Given the description of an element on the screen output the (x, y) to click on. 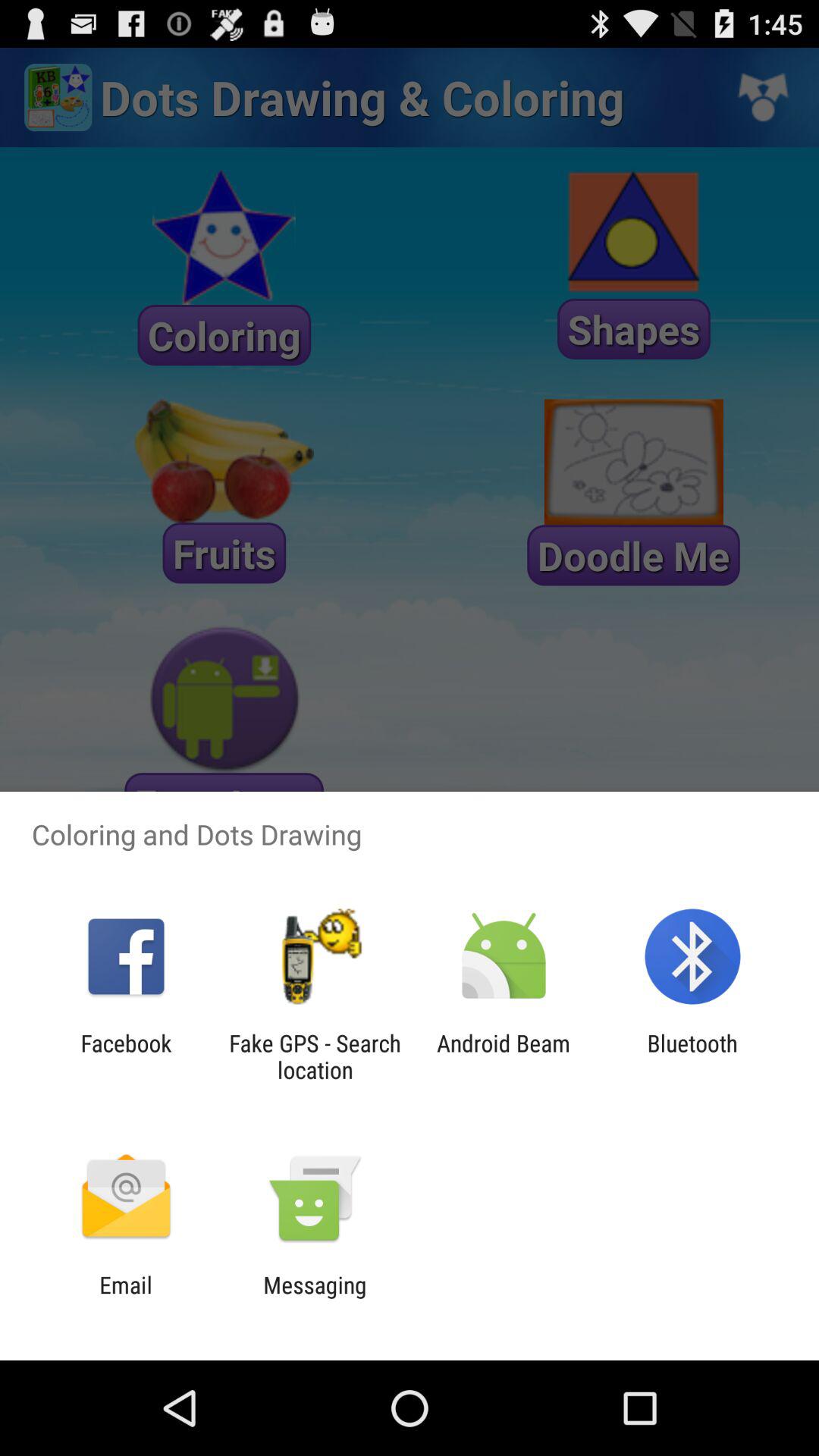
jump to facebook item (125, 1056)
